Given the description of an element on the screen output the (x, y) to click on. 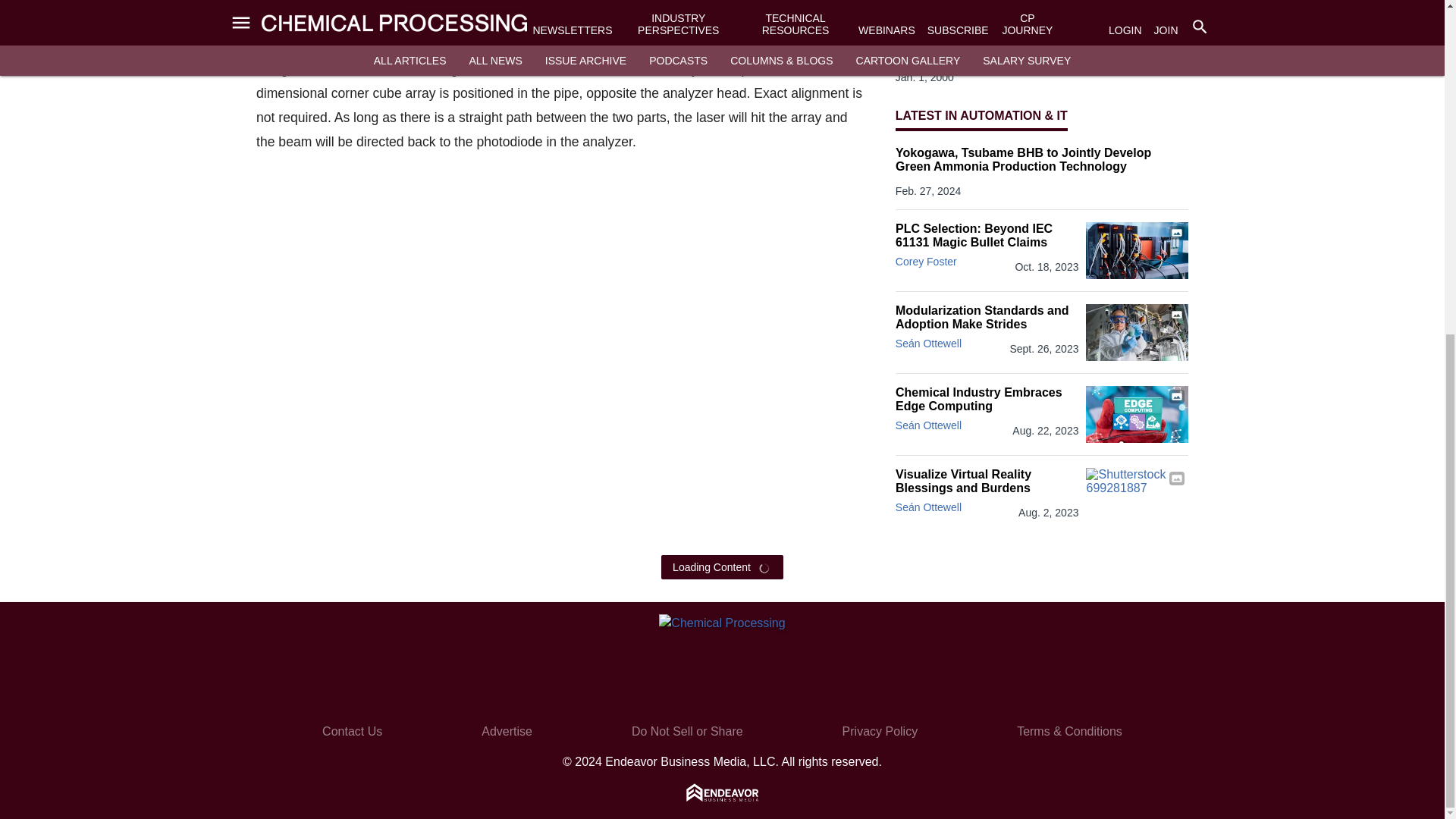
Programmable Logic Controller (1137, 250)
Shutterstock 1912841074 (1137, 414)
Shutterstock 699281887 (1137, 495)
